Given the description of an element on the screen output the (x, y) to click on. 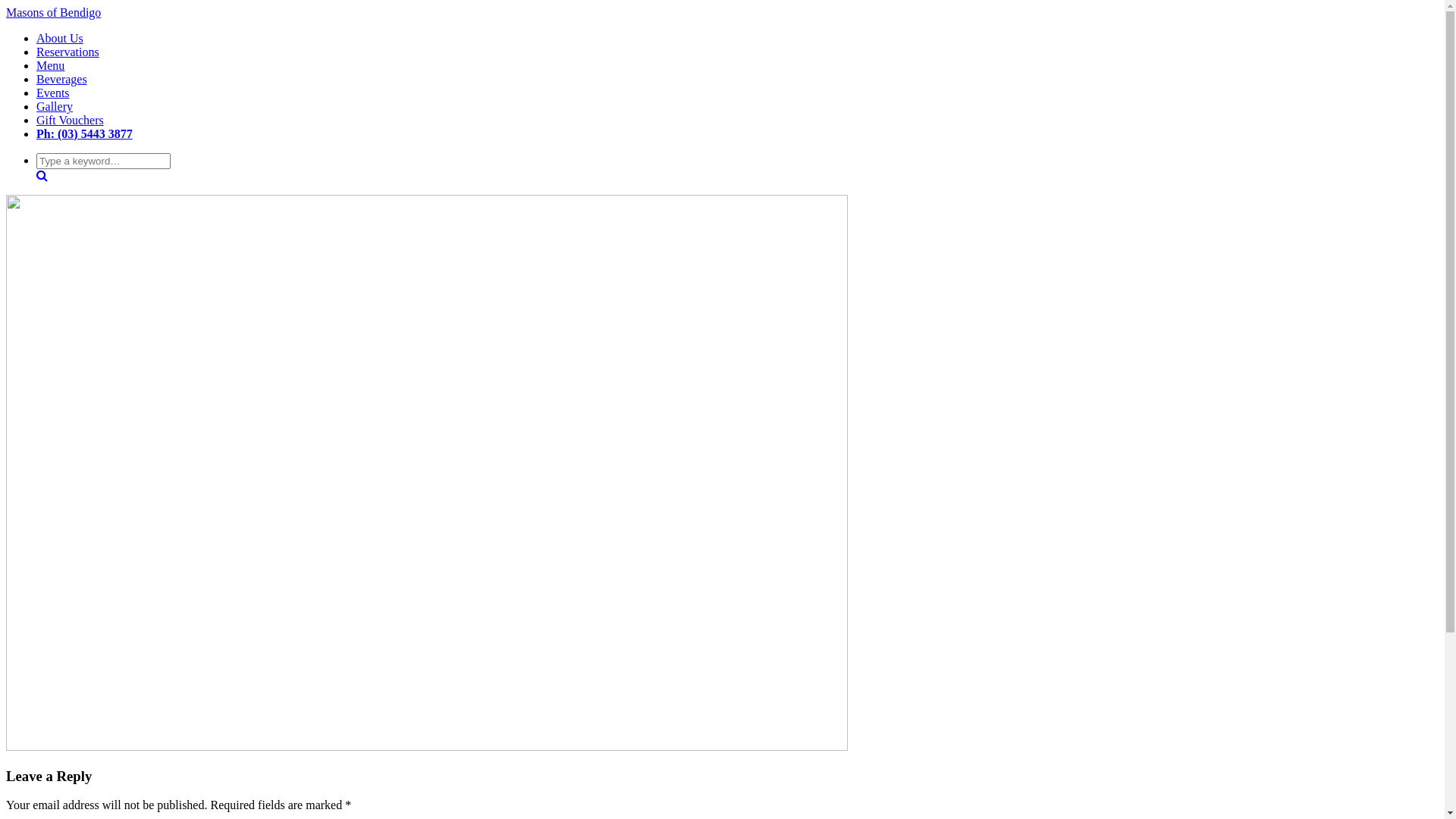
Gallery Element type: text (54, 106)
Gift Vouchers Element type: text (69, 119)
Events Element type: text (52, 92)
Reservations Element type: text (67, 51)
About Us Element type: text (59, 37)
Menu Element type: text (50, 65)
Ph: (03) 5443 3877 Element type: text (84, 133)
Beverages Element type: text (61, 78)
Masons of Bendigo Element type: text (53, 12)
